Given the description of an element on the screen output the (x, y) to click on. 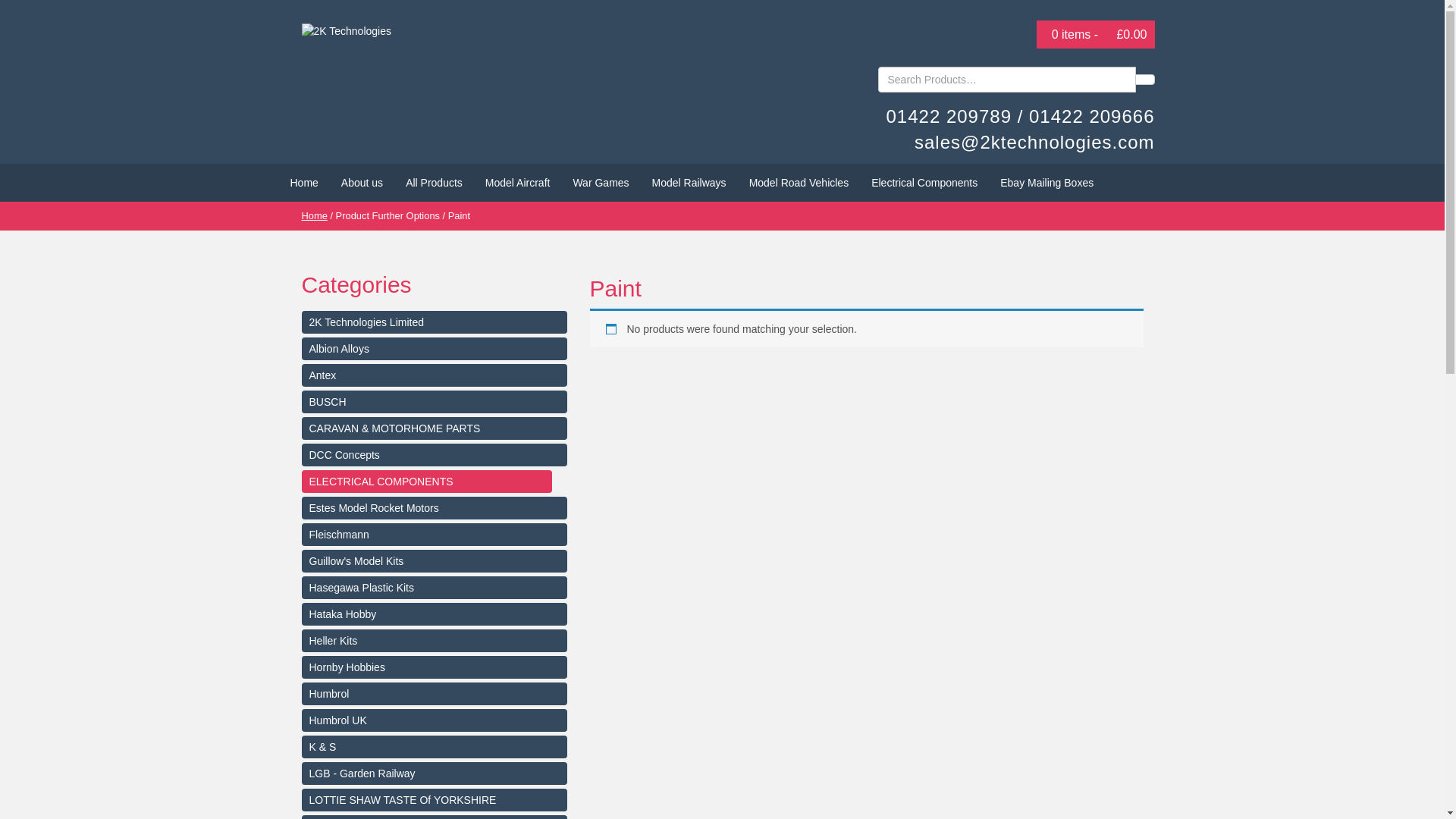
Albion Alloys Element type: text (434, 348)
About us Element type: text (361, 182)
CARAVAN & MOTORHOME PARTS Element type: text (434, 428)
Hornby Hobbies Element type: text (434, 666)
War Games Element type: text (600, 182)
K & S Element type: text (434, 746)
Model Railways Element type: text (688, 182)
Humbrol UK Element type: text (434, 720)
Model Aircraft Element type: text (517, 182)
LGB - Garden Railway Element type: text (434, 773)
Guillow'S Model Kits Element type: text (434, 560)
Heller Kits Element type: text (434, 640)
Electrical Components Element type: text (923, 182)
Home Element type: text (314, 215)
2K Technologies Limited Element type: text (434, 321)
Home Element type: text (304, 182)
ELECTRICAL COMPONENTS Element type: text (426, 481)
DCC Concepts Element type: text (434, 454)
Ebay Mailing Boxes Element type: text (1046, 182)
Search for: Element type: hover (1006, 79)
BUSCH Element type: text (434, 401)
All Products Element type: text (433, 182)
Model Road Vehicles Element type: text (798, 182)
Hataka Hobby Element type: text (434, 613)
Estes Model Rocket Motors Element type: text (434, 507)
Fleischmann Element type: text (434, 534)
LOTTIE SHAW TASTE Of YORKSHIRE Element type: text (434, 799)
Humbrol Element type: text (434, 693)
Hasegawa Plastic Kits Element type: text (434, 587)
Antex Element type: text (434, 375)
Search Element type: text (1144, 79)
